Given the description of an element on the screen output the (x, y) to click on. 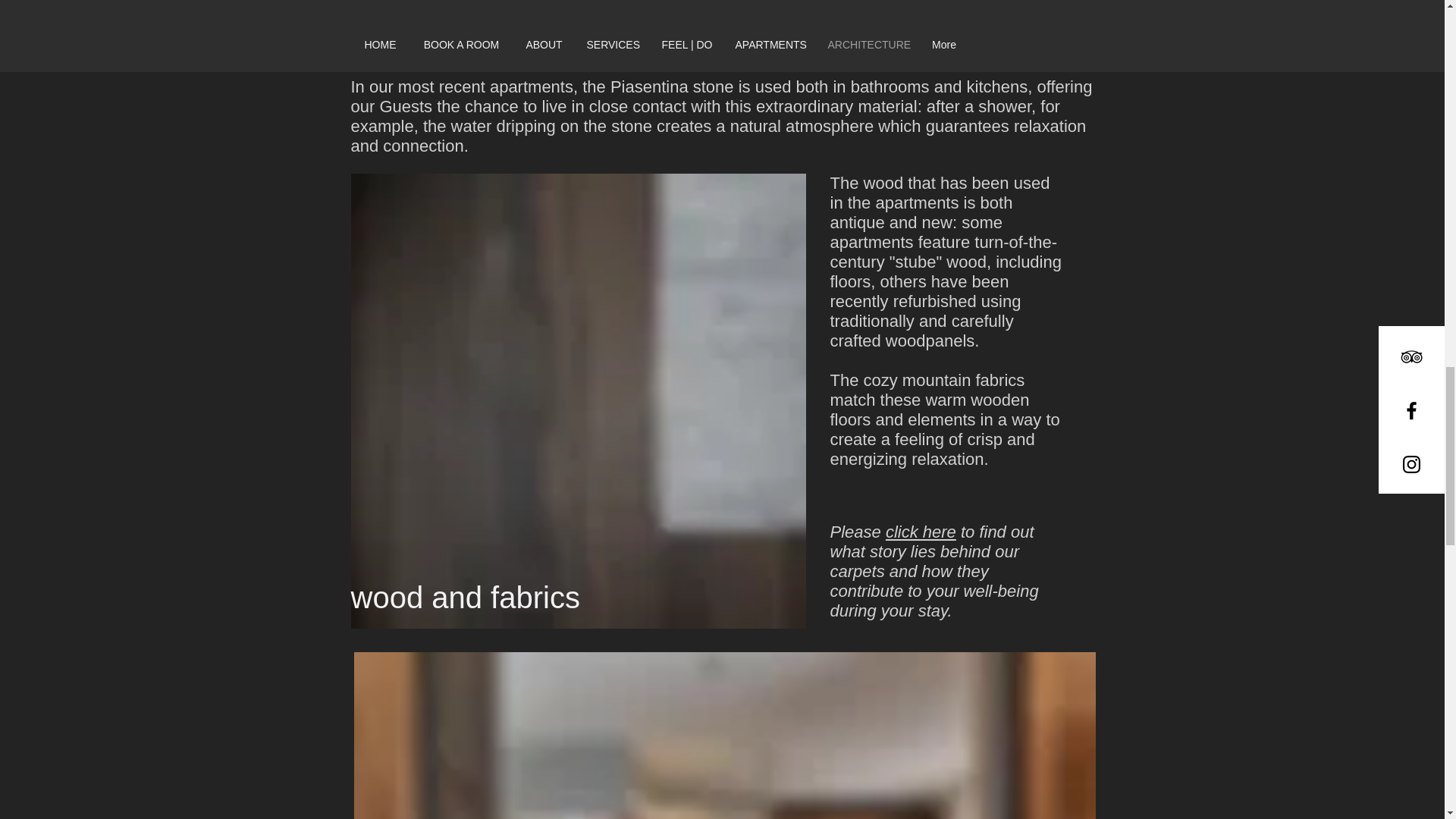
click here (920, 531)
